Given the description of an element on the screen output the (x, y) to click on. 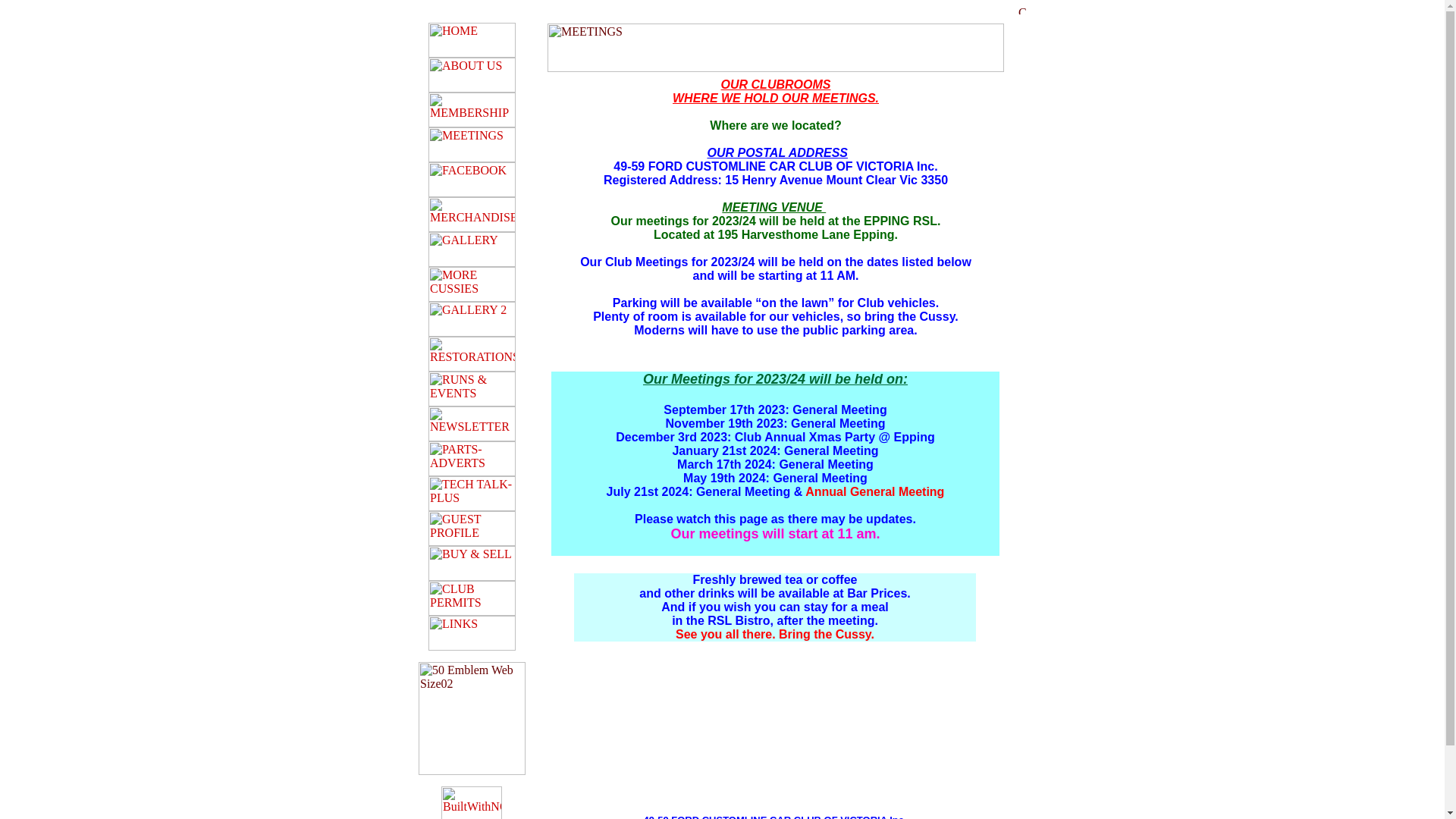
NEWSLETTER Element type: hover (471, 423)
MEETINGS Element type: hover (775, 47)
PARTS-ADVERTS Element type: hover (471, 458)
MORE CUSSIES Element type: hover (471, 283)
TECH TALK-PLUS Element type: hover (471, 493)
MEMBERSHIP Element type: hover (471, 109)
ABOUT US Element type: hover (471, 74)
MEETINGS Element type: hover (471, 144)
HOME Element type: hover (471, 39)
BUY & SELL Element type: hover (471, 563)
CLUB PERMITS Element type: hover (471, 597)
RESTORATIONS Element type: hover (471, 353)
Cussy Club Grey Mottle Bck Grnd02 Element type: hover (1022, 10)
GALLERY Element type: hover (471, 249)
50 Emblem Web Size02 Element type: hover (471, 718)
MERCHANDISE Element type: hover (471, 214)
GUEST PROFILE Element type: hover (471, 528)
LINKS Element type: hover (471, 632)
FACEBOOK Element type: hover (471, 179)
RUNS & EVENTS Element type: hover (471, 388)
GALLERY 2 Element type: hover (471, 318)
